Given the description of an element on the screen output the (x, y) to click on. 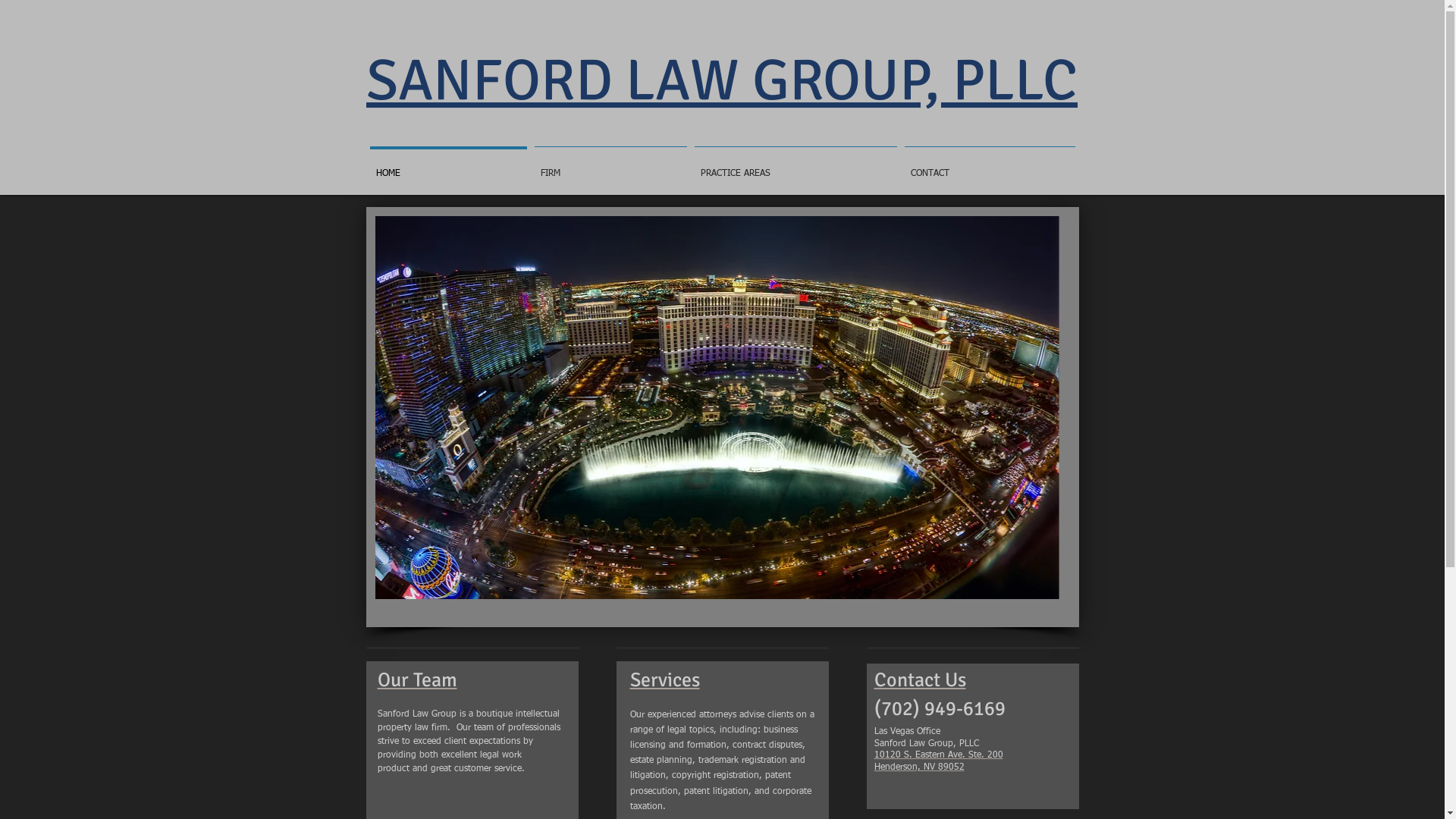
SANFORD LAW GROUP, PLLC Element type: text (721, 80)
HOME Element type: text (447, 166)
Contact Us Element type: text (919, 661)
PRACTICE AREAS Element type: text (795, 166)
Our Team Element type: text (417, 661)
CONTACT Element type: text (989, 166)
Services Element type: text (664, 661)
10120 S. Eastern Ave. Ste. 200 Element type: text (937, 735)
Henderson, NV 89052 Element type: text (918, 747)
FIRM Element type: text (610, 166)
